Given the description of an element on the screen output the (x, y) to click on. 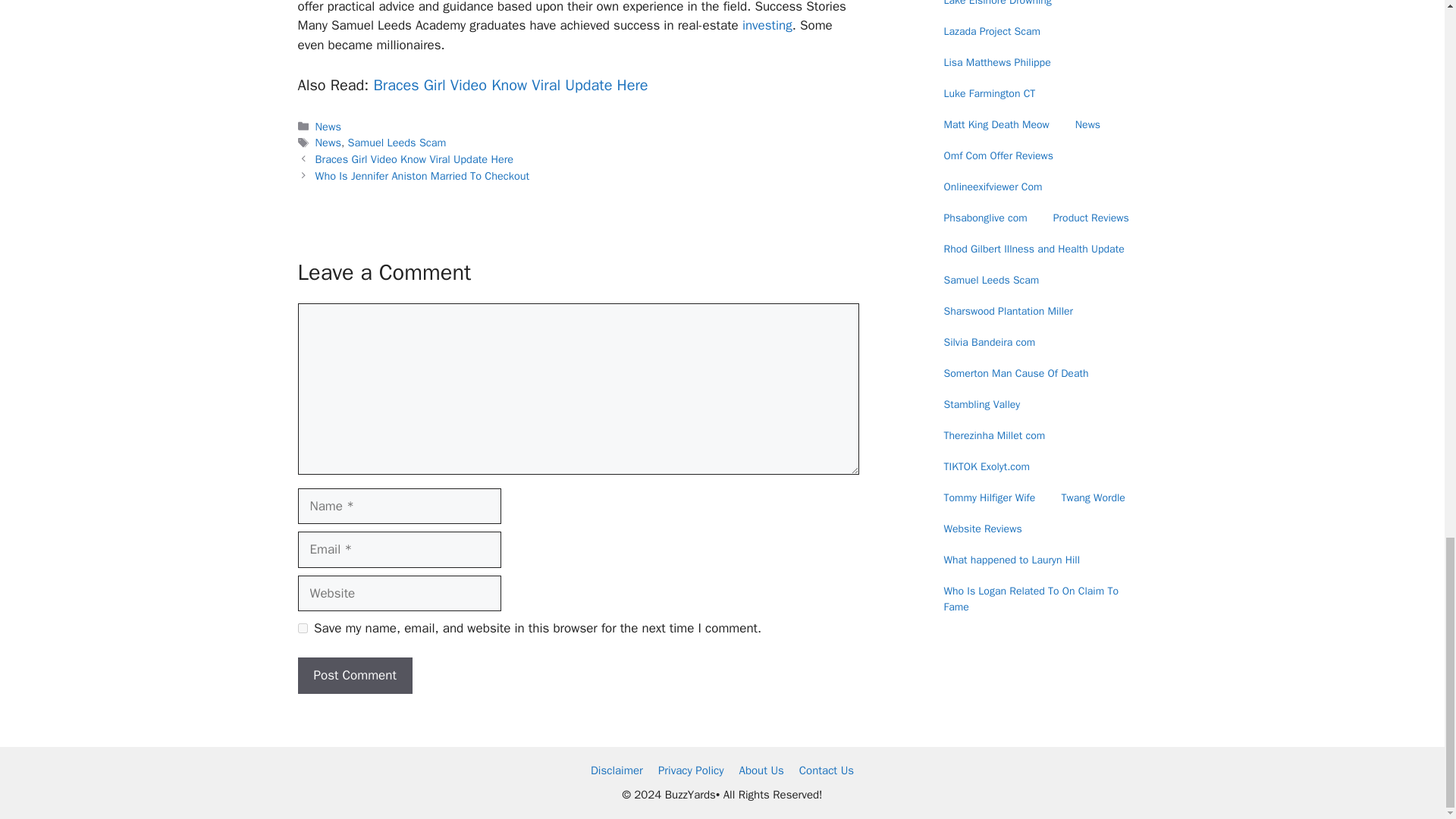
Post Comment (354, 675)
Braces Girl Video Know Viral Update Here (509, 85)
Braces Girl Video Know Viral Update Here (414, 159)
News (327, 142)
investing (765, 25)
yes (302, 628)
Post Comment (354, 675)
Samuel Leeds Scam (396, 142)
News (327, 126)
Who Is Jennifer Aniston Married To Checkout (422, 175)
